Given the description of an element on the screen output the (x, y) to click on. 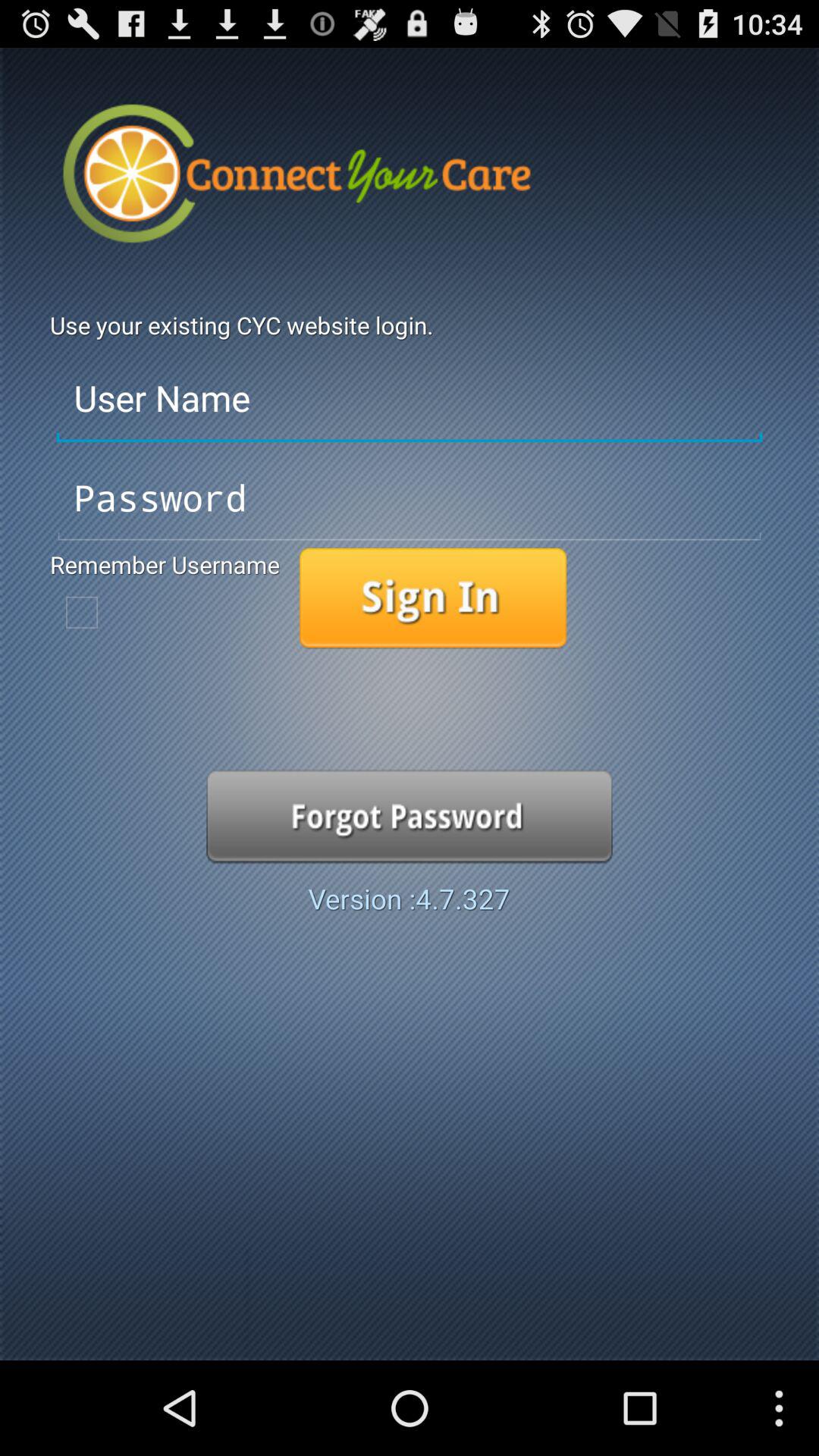
check remember username (81, 612)
